Given the description of an element on the screen output the (x, y) to click on. 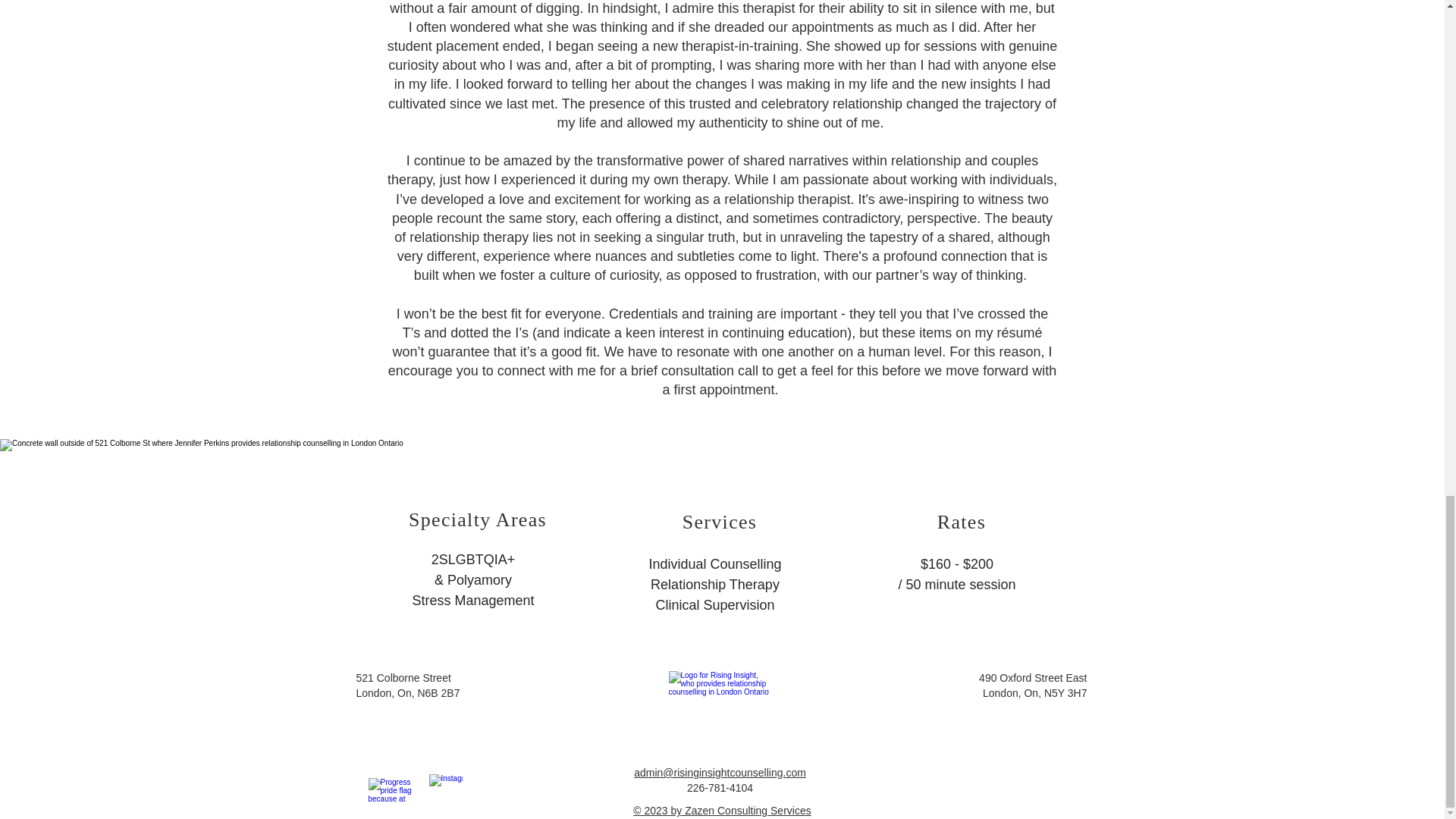
226-781-4104 (719, 787)
521 Colborne Street (403, 677)
490 Oxford Street East (1032, 677)
